Given the description of an element on the screen output the (x, y) to click on. 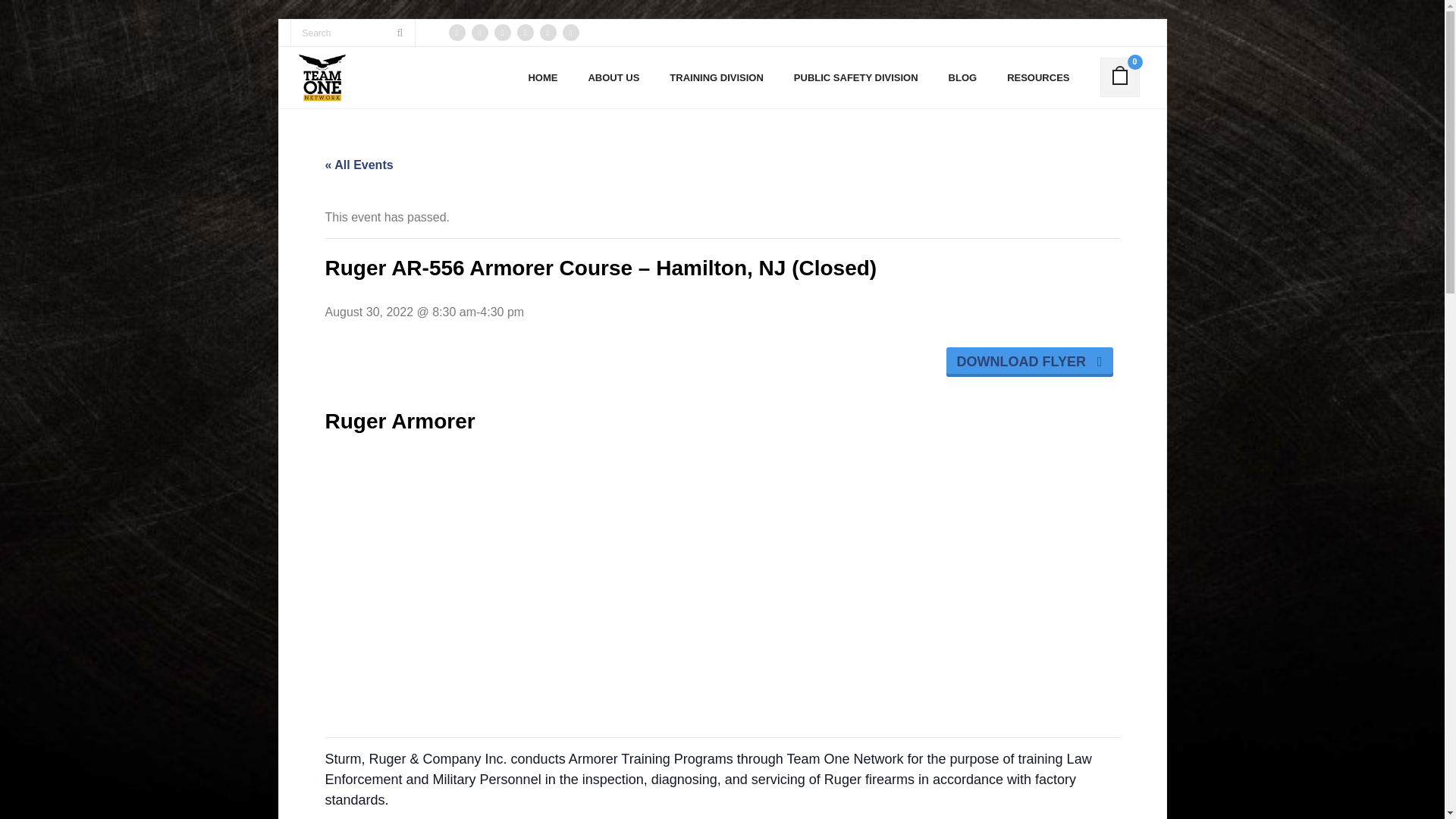
Start shopping (1119, 71)
Search (37, 16)
